Given the description of an element on the screen output the (x, y) to click on. 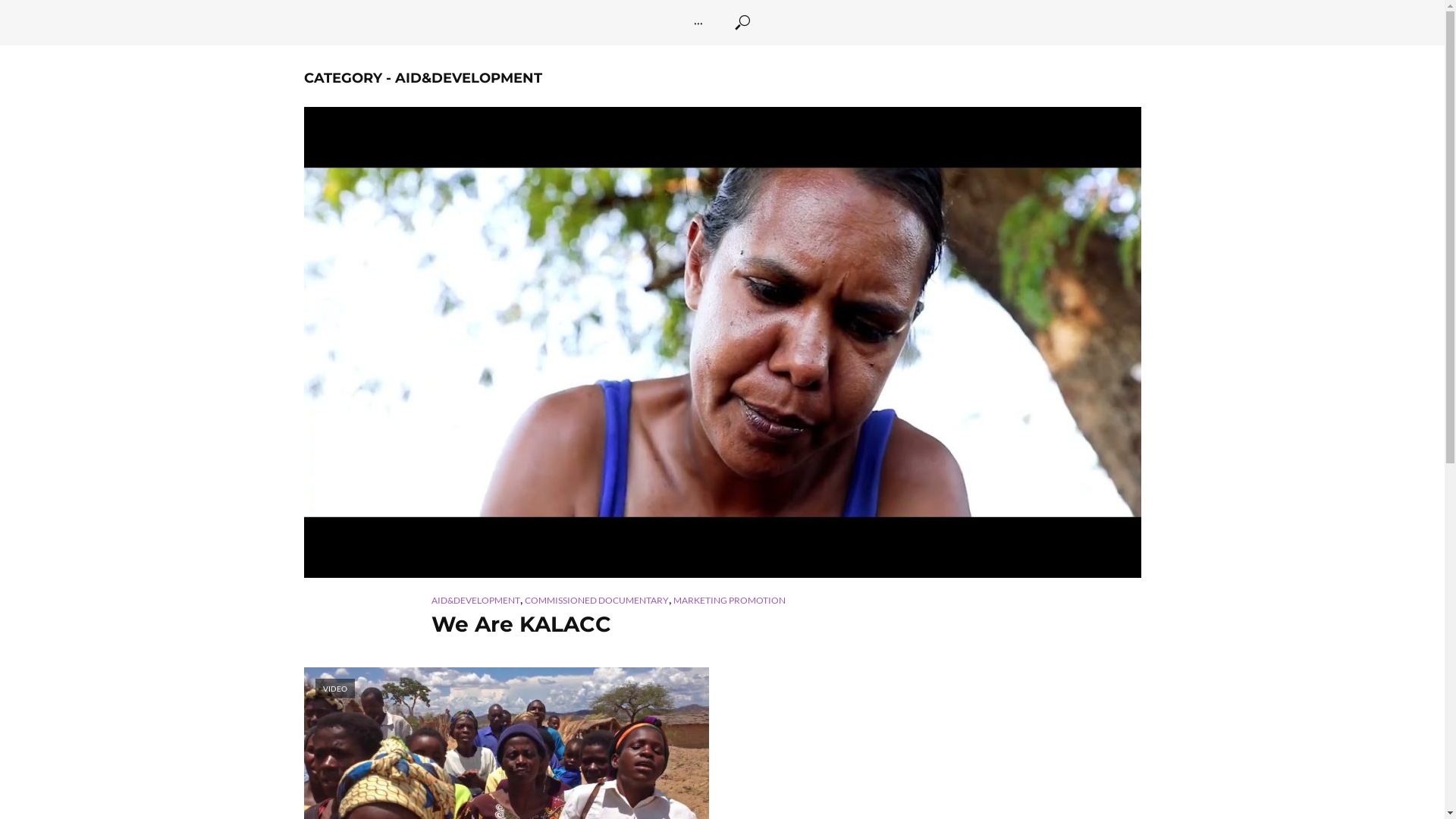
AID&DEVELOPMENT Element type: text (474, 600)
MARKETING PROMOTION Element type: text (729, 600)
We Are KALACC Element type: text (721, 623)
COMMISSIONED DOCUMENTARY Element type: text (596, 600)
We Are KALACC Element type: hover (721, 341)
